Given the description of an element on the screen output the (x, y) to click on. 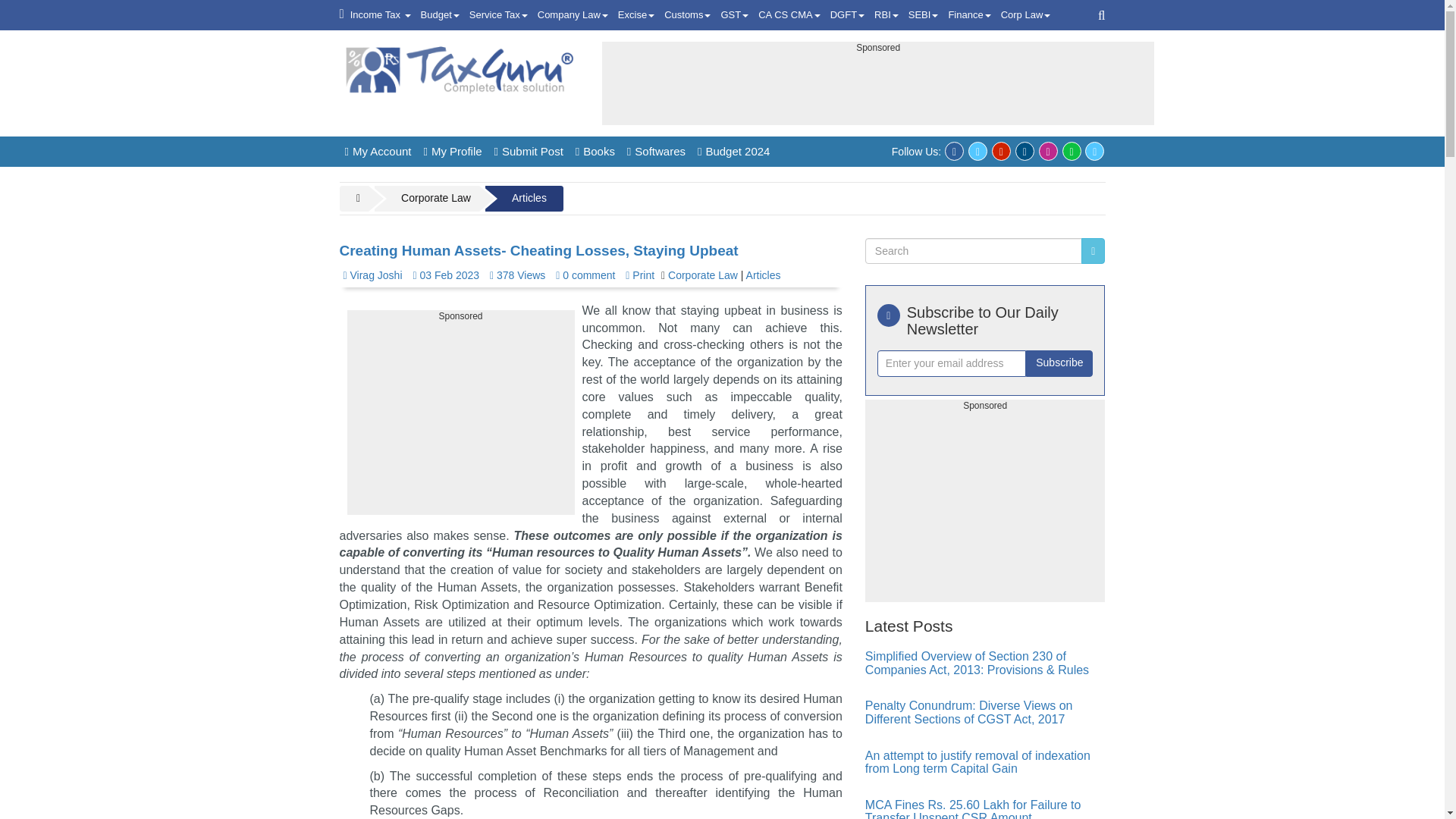
Service Tax (498, 15)
Service Tax Article News Notifications Judgments (498, 15)
Excise (636, 15)
Budget (439, 15)
Customs (687, 15)
Income Tax (380, 15)
Income Tax Related Information (380, 15)
Union Budget 2024 Article News Notifications (439, 15)
Company Law (572, 15)
